Given the description of an element on the screen output the (x, y) to click on. 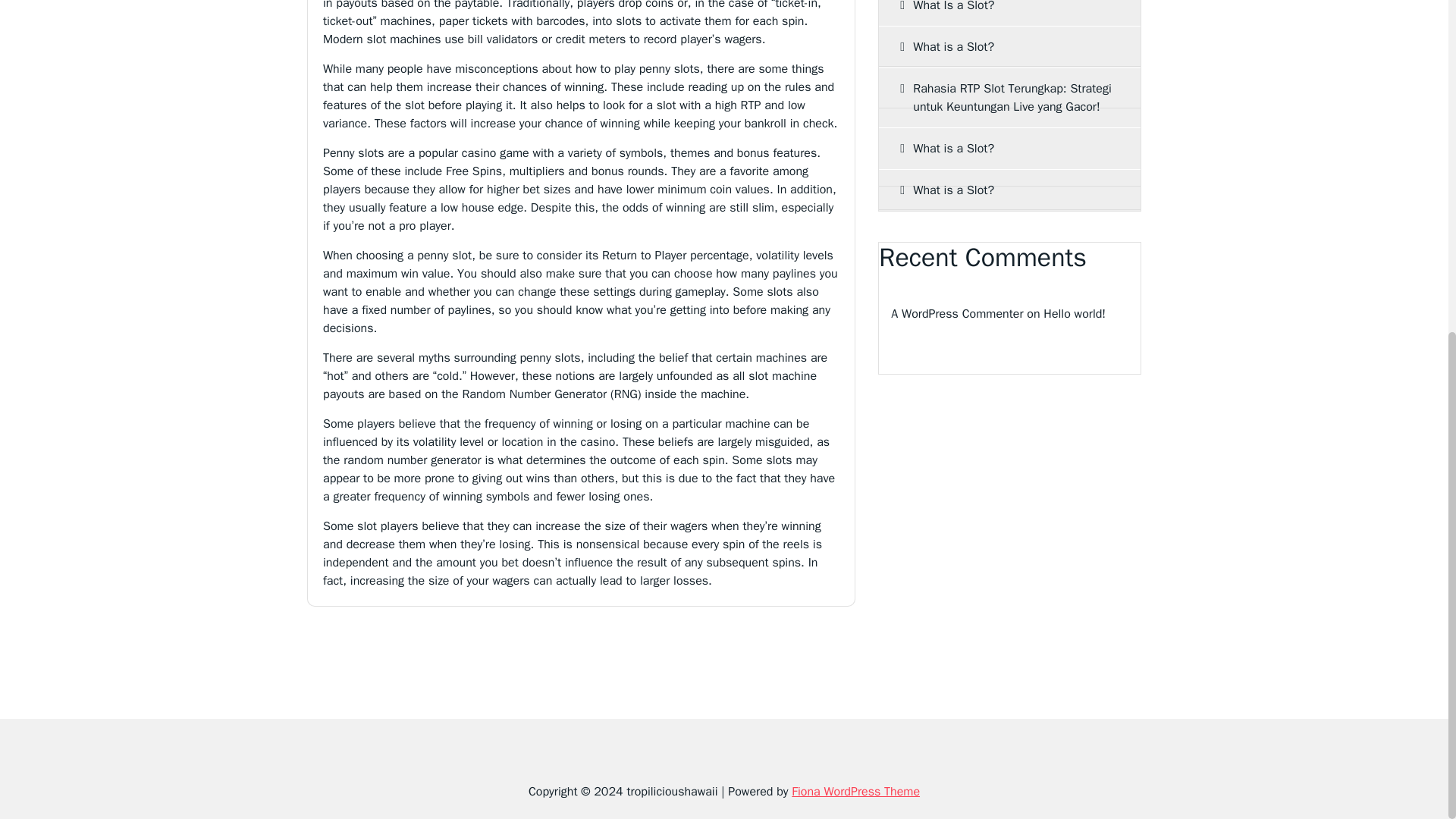
What is a Slot? (1009, 147)
A WordPress Commenter (957, 313)
What is a Slot? (1009, 46)
Hello world! (1074, 313)
What is a Slot? (1009, 189)
What Is a Slot? (1009, 12)
Fiona WordPress Theme (856, 791)
